Given the description of an element on the screen output the (x, y) to click on. 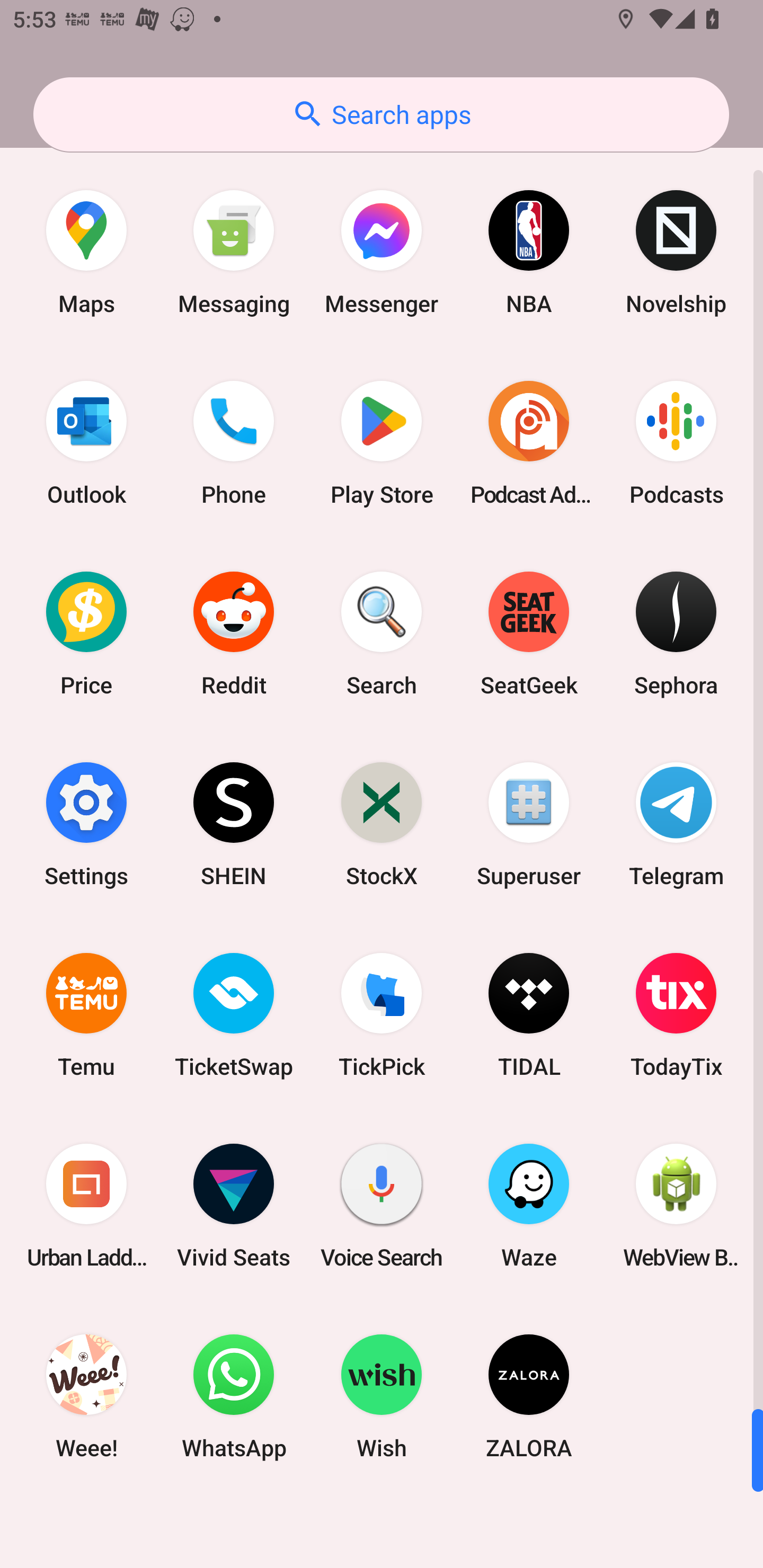
  Search apps (381, 114)
Maps (86, 252)
Messaging (233, 252)
Messenger (381, 252)
NBA (528, 252)
Novelship (676, 252)
Outlook (86, 442)
Phone (233, 442)
Play Store (381, 442)
Podcast Addict (528, 442)
Podcasts (676, 442)
Price (86, 633)
Reddit (233, 633)
Search (381, 633)
SeatGeek (528, 633)
Sephora (676, 633)
Settings (86, 823)
SHEIN (233, 823)
StockX (381, 823)
Superuser (528, 823)
Telegram (676, 823)
Temu (86, 1014)
TicketSwap (233, 1014)
TickPick (381, 1014)
TIDAL (528, 1014)
TodayTix (676, 1014)
Urban Ladder (86, 1205)
Vivid Seats (233, 1205)
Voice Search (381, 1205)
Waze (528, 1205)
WebView Browser Tester (676, 1205)
Weee! (86, 1396)
WhatsApp (233, 1396)
Wish (381, 1396)
ZALORA (528, 1396)
